Given the description of an element on the screen output the (x, y) to click on. 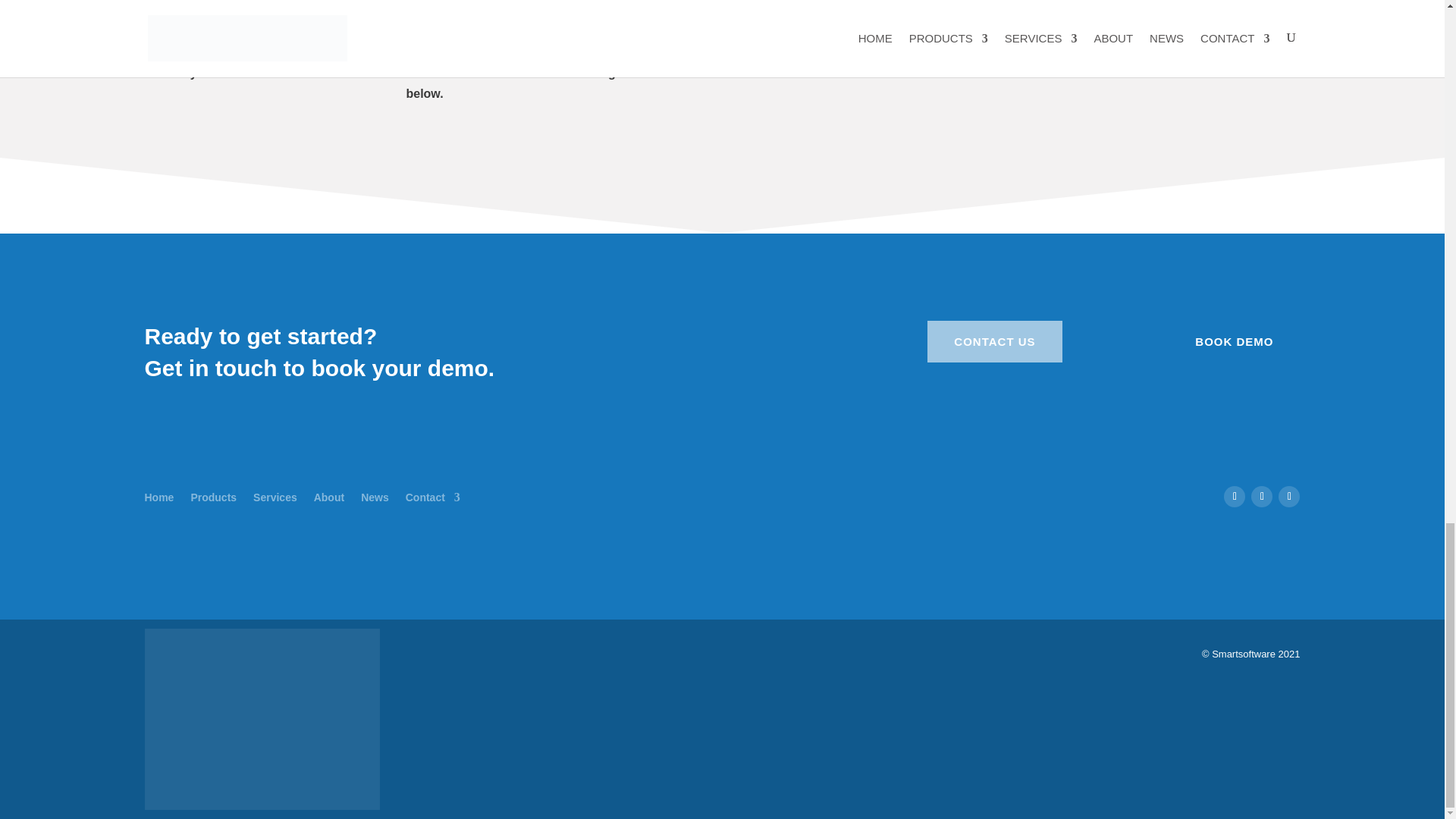
About (328, 494)
Follow on LinkedIn (1289, 496)
Products (212, 494)
Contact (433, 494)
Follow on X (1261, 496)
BOOK DEMO (1234, 342)
Services (275, 494)
Home (158, 494)
CONTACT US (994, 342)
Follow on Facebook (1234, 496)
News (374, 494)
